Given the description of an element on the screen output the (x, y) to click on. 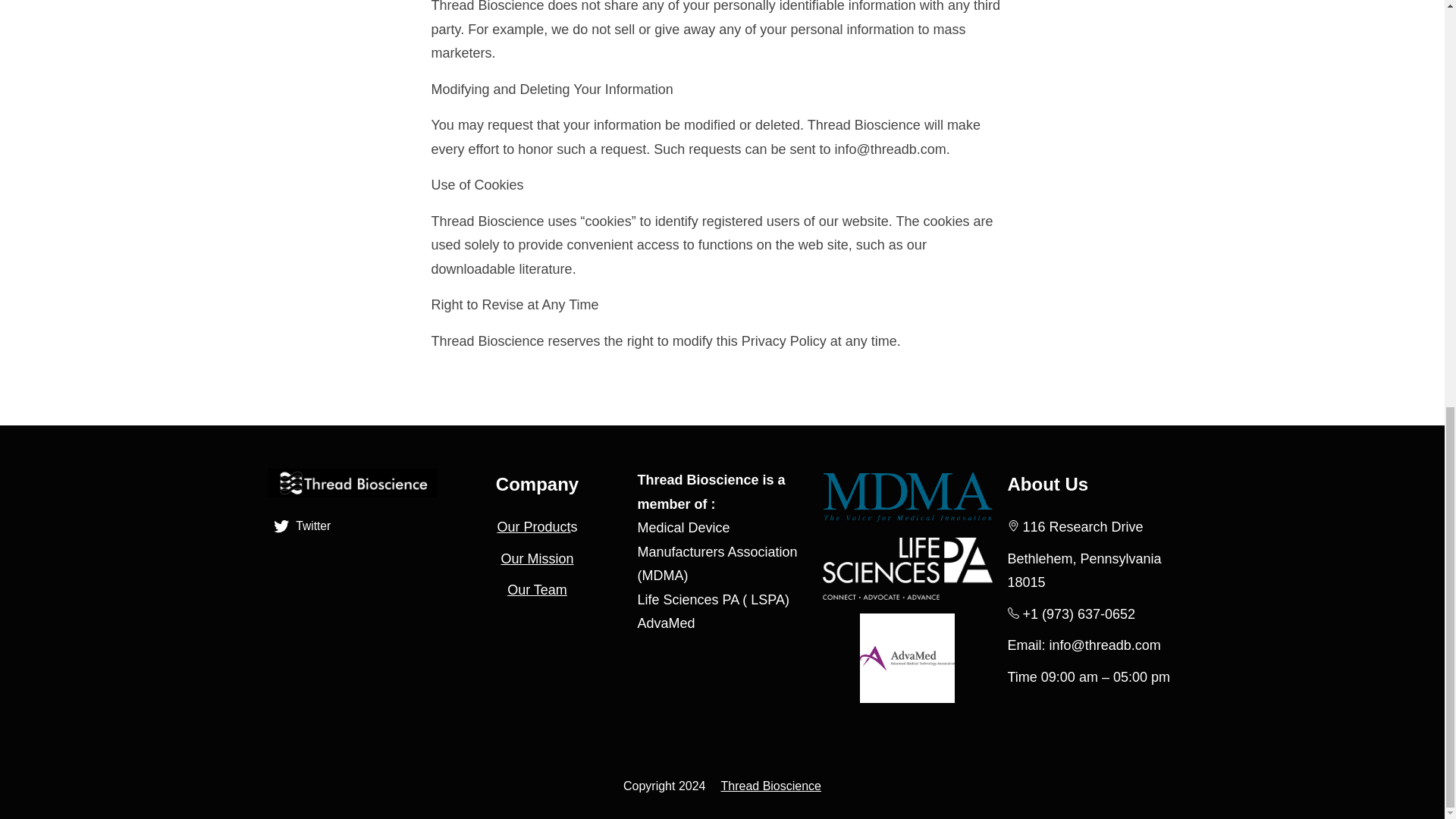
Twitter (303, 525)
Our Team (536, 589)
Our Product (533, 526)
Our Mission (536, 558)
Thread Bioscience (770, 785)
